Given the description of an element on the screen output the (x, y) to click on. 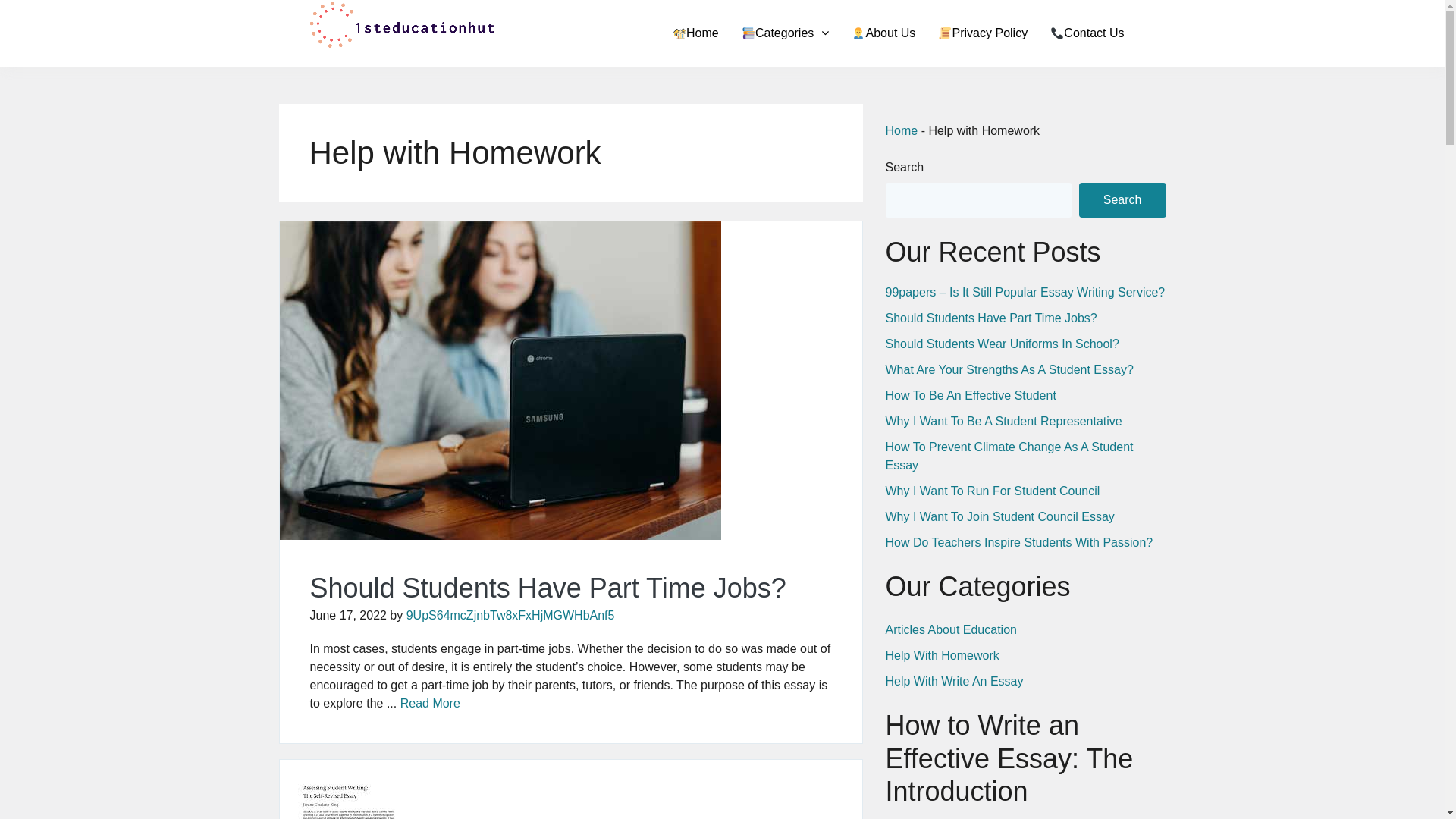
Why I Want To Be A Student Representative Element type: text (1003, 420)
Privacy Policy Element type: text (982, 33)
How To Be An Effective Student Element type: text (970, 395)
About Us Element type: text (883, 33)
Search Element type: text (1122, 199)
What Are Your Strengths As A Student Essay? Element type: text (1009, 369)
Home Element type: text (695, 33)
Contact Us Element type: text (1086, 33)
Categories Element type: text (785, 33)
Why I Want To Join Student Council Essay Element type: text (999, 516)
Should Students Have Part Time Jobs? Element type: text (547, 587)
Why I Want To Run For Student Council Element type: text (992, 490)
Should Students Wear Uniforms In School? Element type: text (1002, 343)
Help With Write An Essay Element type: text (954, 680)
Read More Element type: text (430, 702)
Home Element type: text (901, 130)
How To Prevent Climate Change As A Student Essay Element type: text (1009, 455)
Articles About Education Element type: text (950, 629)
How Do Teachers Inspire Students With Passion? Element type: text (1019, 542)
9UpS64mcZjnbTw8xFxHjMGWHbAnf5 Element type: text (510, 614)
Help With Homework Element type: text (942, 655)
Should Students Have Part Time Jobs? Element type: text (991, 317)
